Given the description of an element on the screen output the (x, y) to click on. 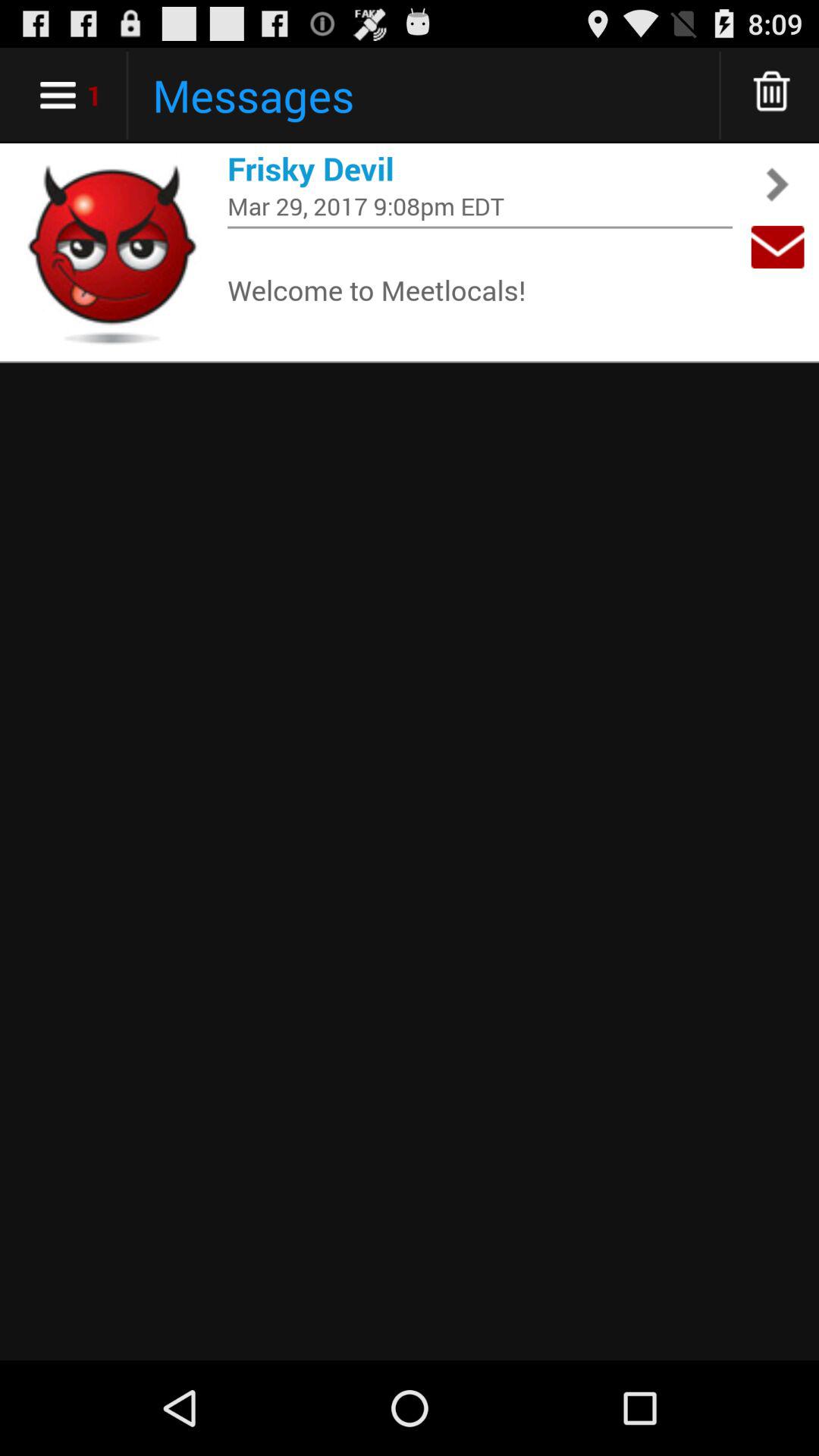
launch app next to mar 29 2017 item (777, 246)
